Given the description of an element on the screen output the (x, y) to click on. 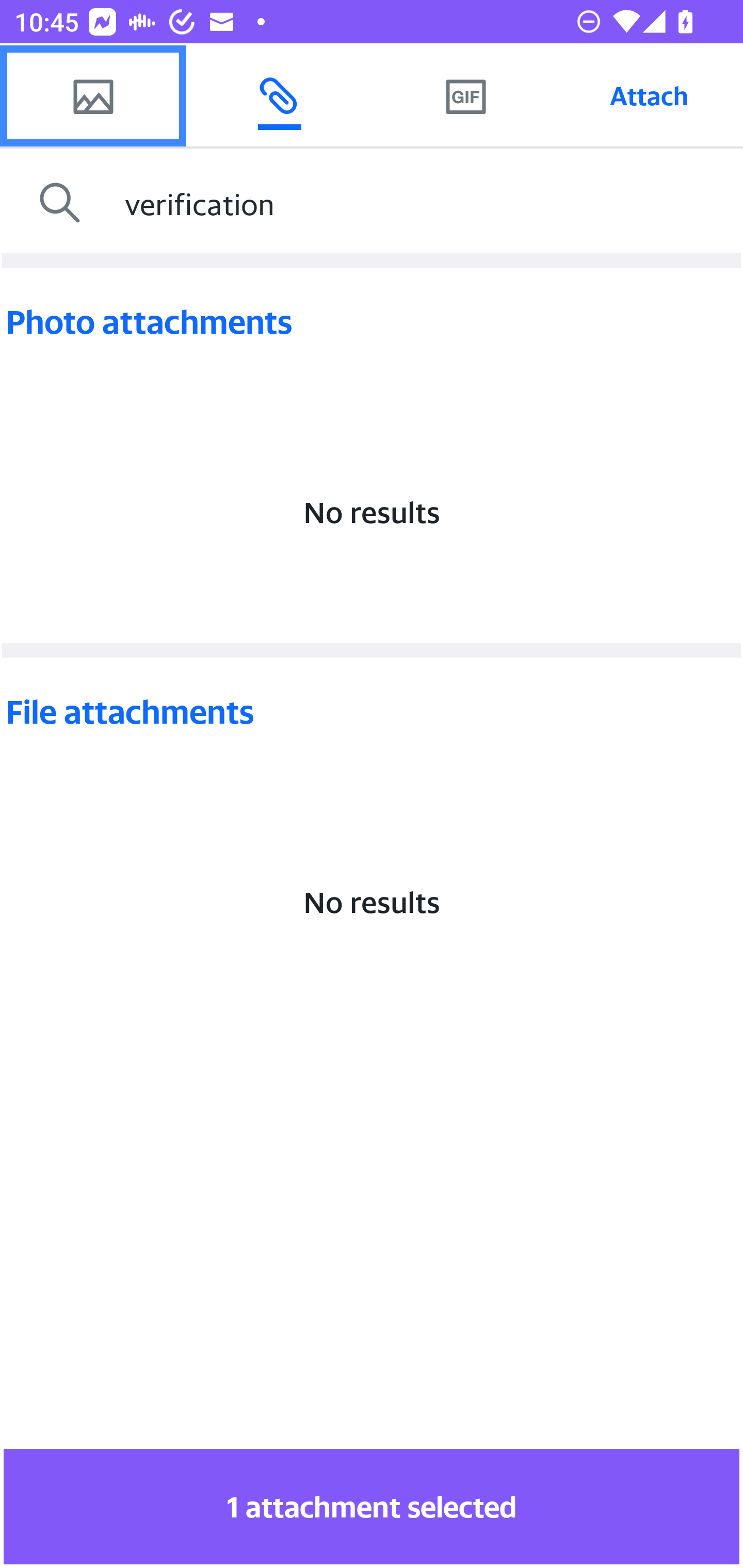
Camera photos (93, 95)
Recent attachments from mail (279, 95)
GIFs (465, 95)
Attach (649, 95)
verification (428, 203)
Photo attachments (371, 322)
File attachments (371, 711)
1 attachment selected (371, 1506)
